Given the description of an element on the screen output the (x, y) to click on. 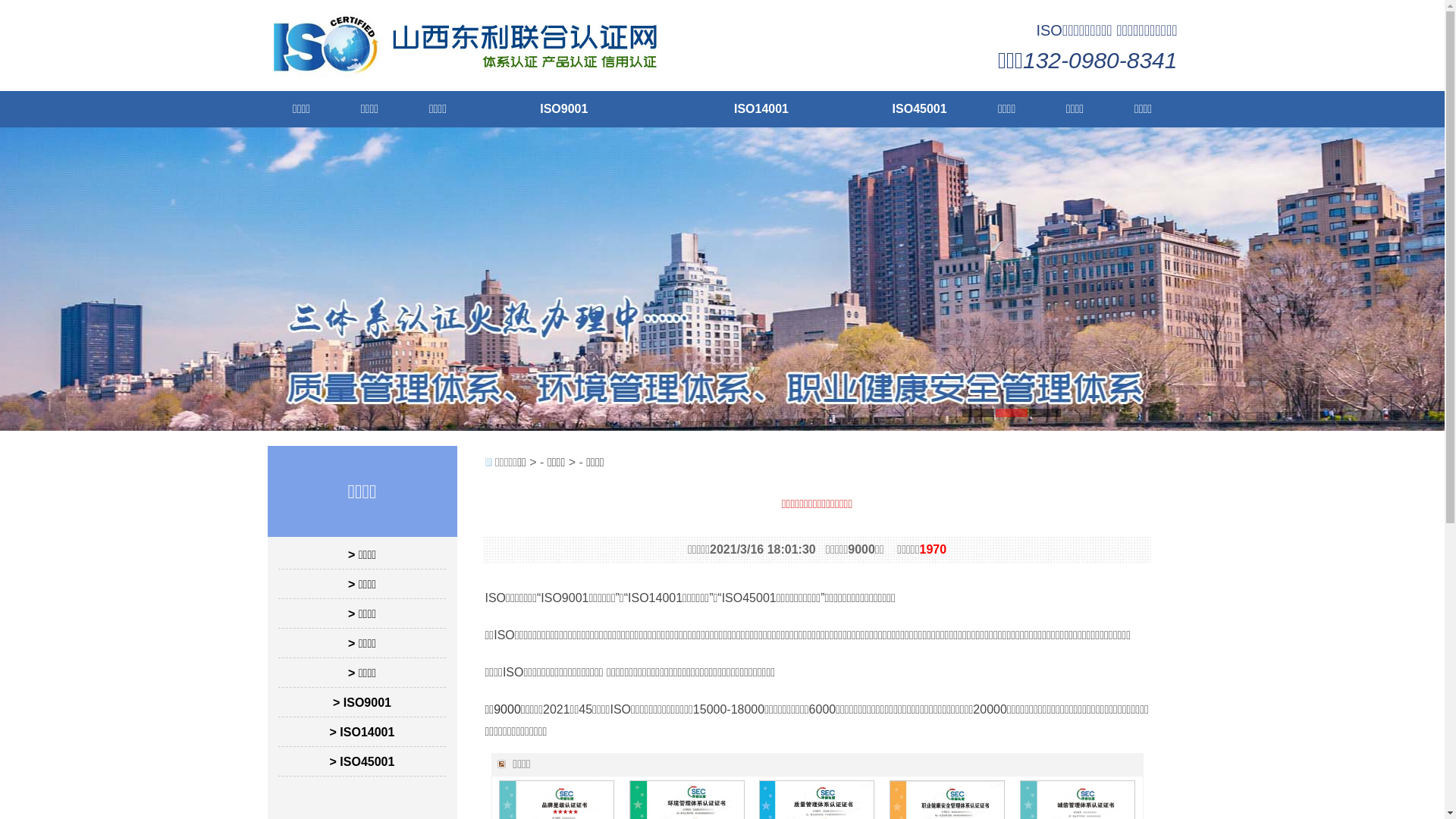
> ISO14001 Element type: text (362, 731)
> ISO45001 Element type: text (362, 761)
ISO45001 Element type: text (919, 108)
> ISO9001 Element type: text (361, 702)
ISO14001 Element type: text (761, 108)
ISO9001 Element type: text (563, 108)
